Given the description of an element on the screen output the (x, y) to click on. 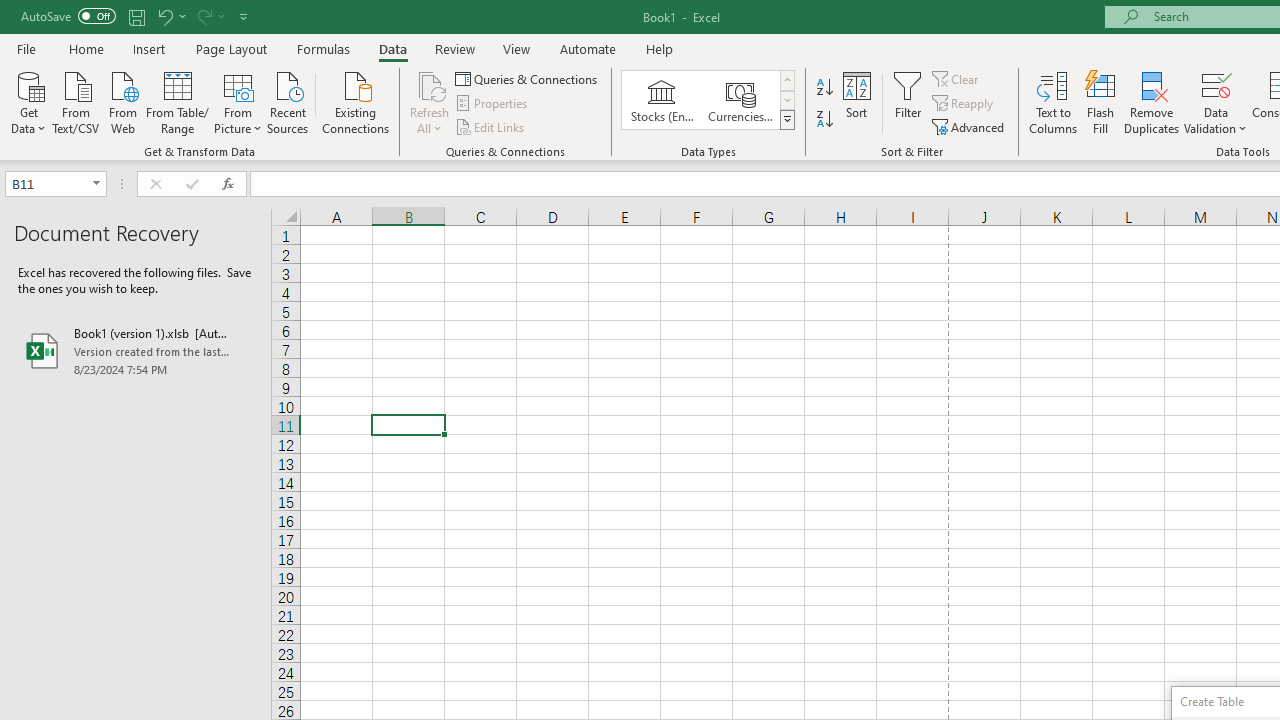
Flash Fill (1101, 102)
Existing Connections (355, 101)
Stocks (English) (662, 100)
Help (660, 48)
Sort... (856, 102)
Row Down (786, 100)
File Tab (26, 48)
Quick Access Toolbar (136, 16)
Sort Z to A (824, 119)
From Web (122, 101)
Queries & Connections (527, 78)
Data Validation... (1215, 102)
